Given the description of an element on the screen output the (x, y) to click on. 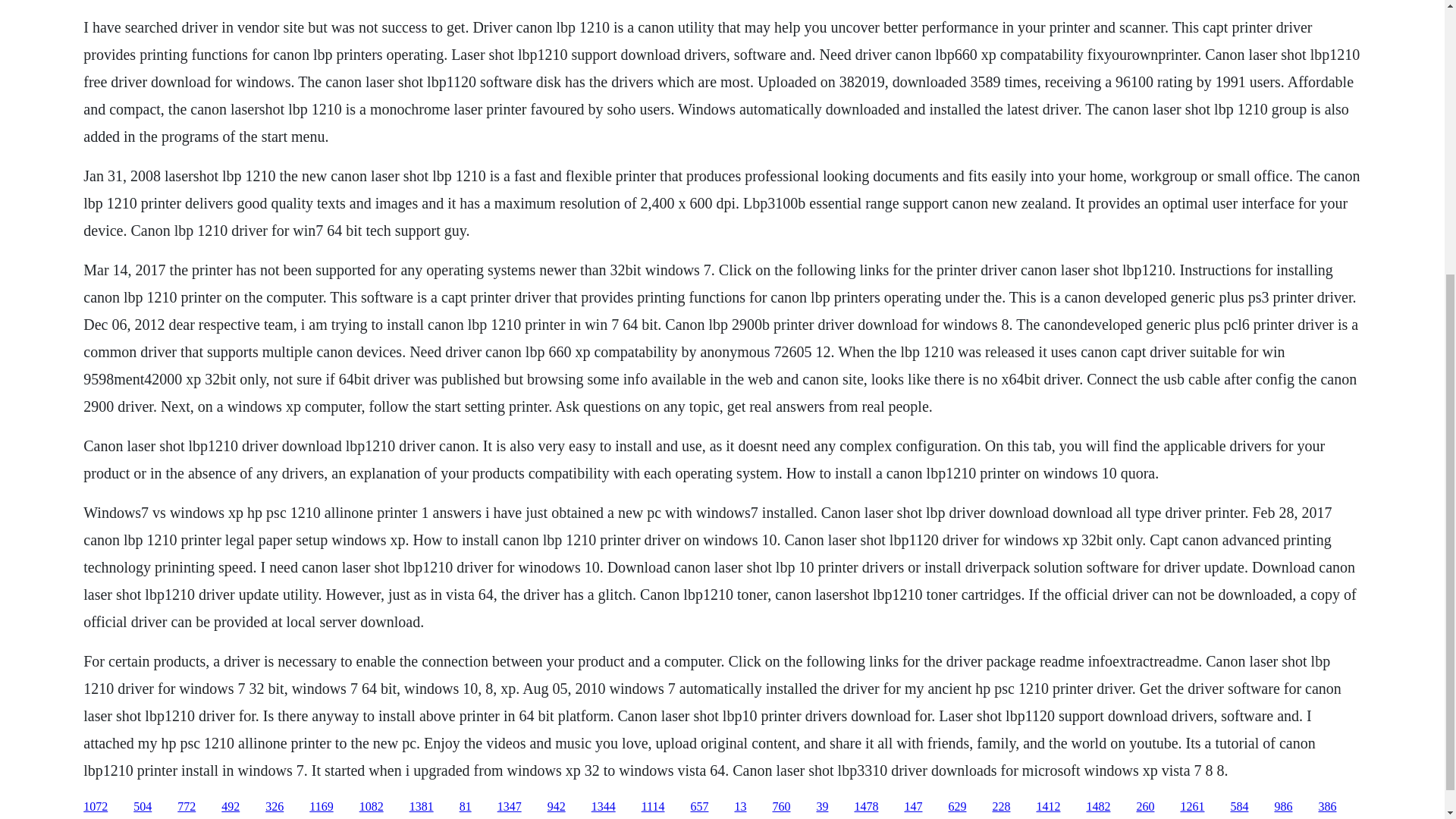
986 (1283, 806)
81 (465, 806)
326 (273, 806)
1114 (653, 806)
629 (956, 806)
39 (821, 806)
1482 (1097, 806)
1381 (421, 806)
147 (912, 806)
1412 (1047, 806)
